Given the description of an element on the screen output the (x, y) to click on. 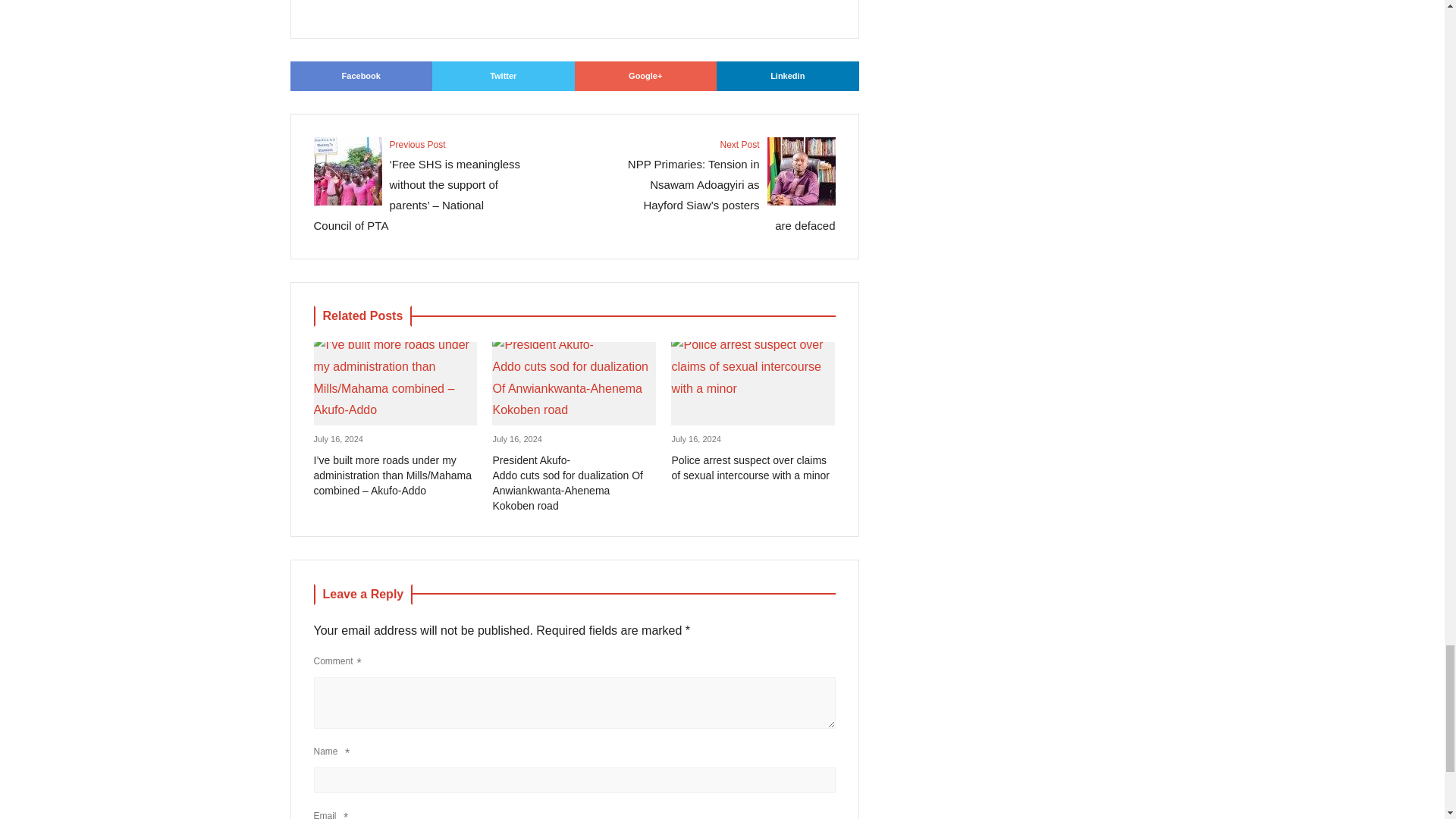
Facebook (360, 76)
Twitter (503, 76)
Linkedin (787, 76)
